Given the description of an element on the screen output the (x, y) to click on. 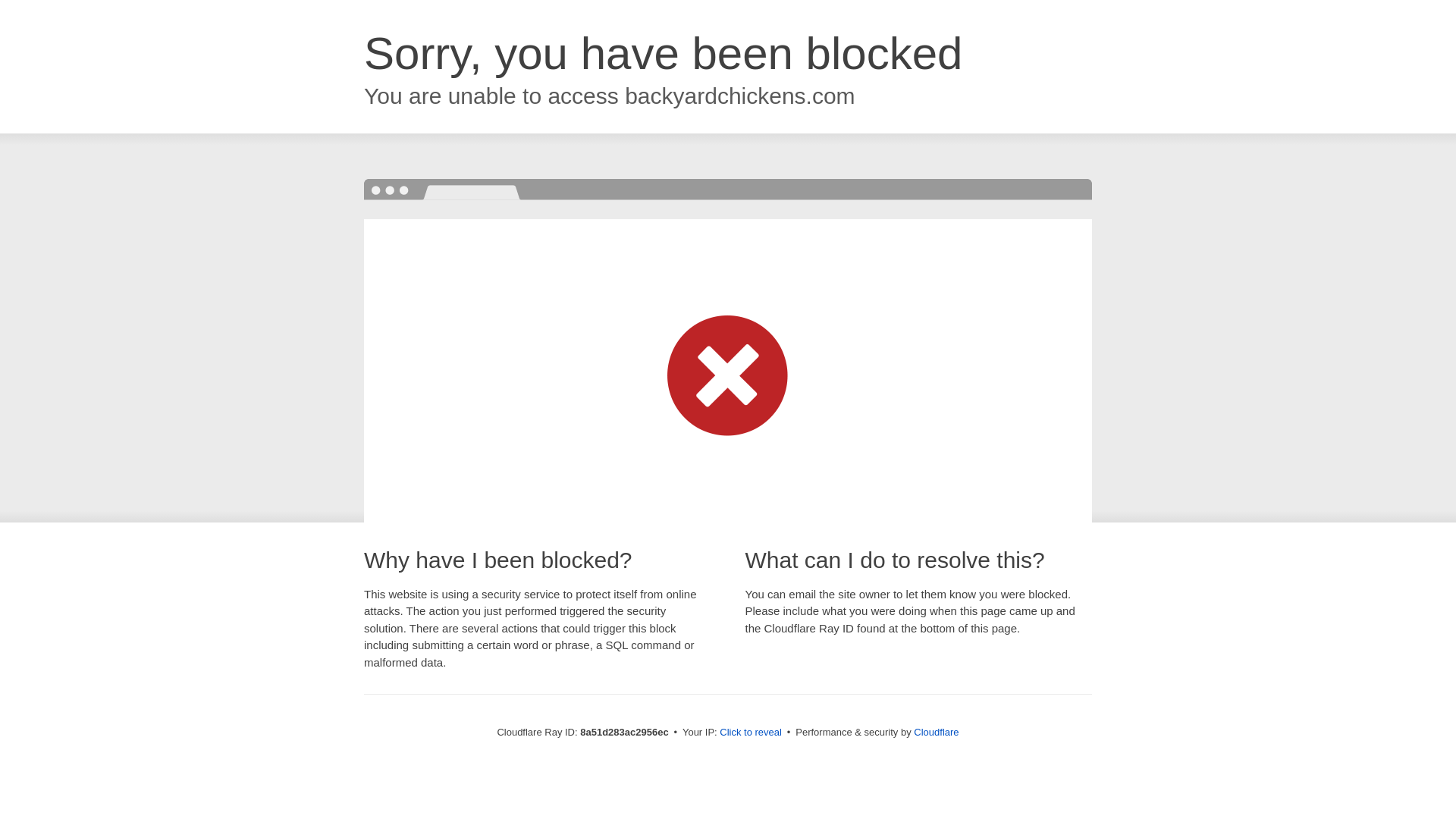
Click to reveal (750, 732)
Cloudflare (936, 731)
